Given the description of an element on the screen output the (x, y) to click on. 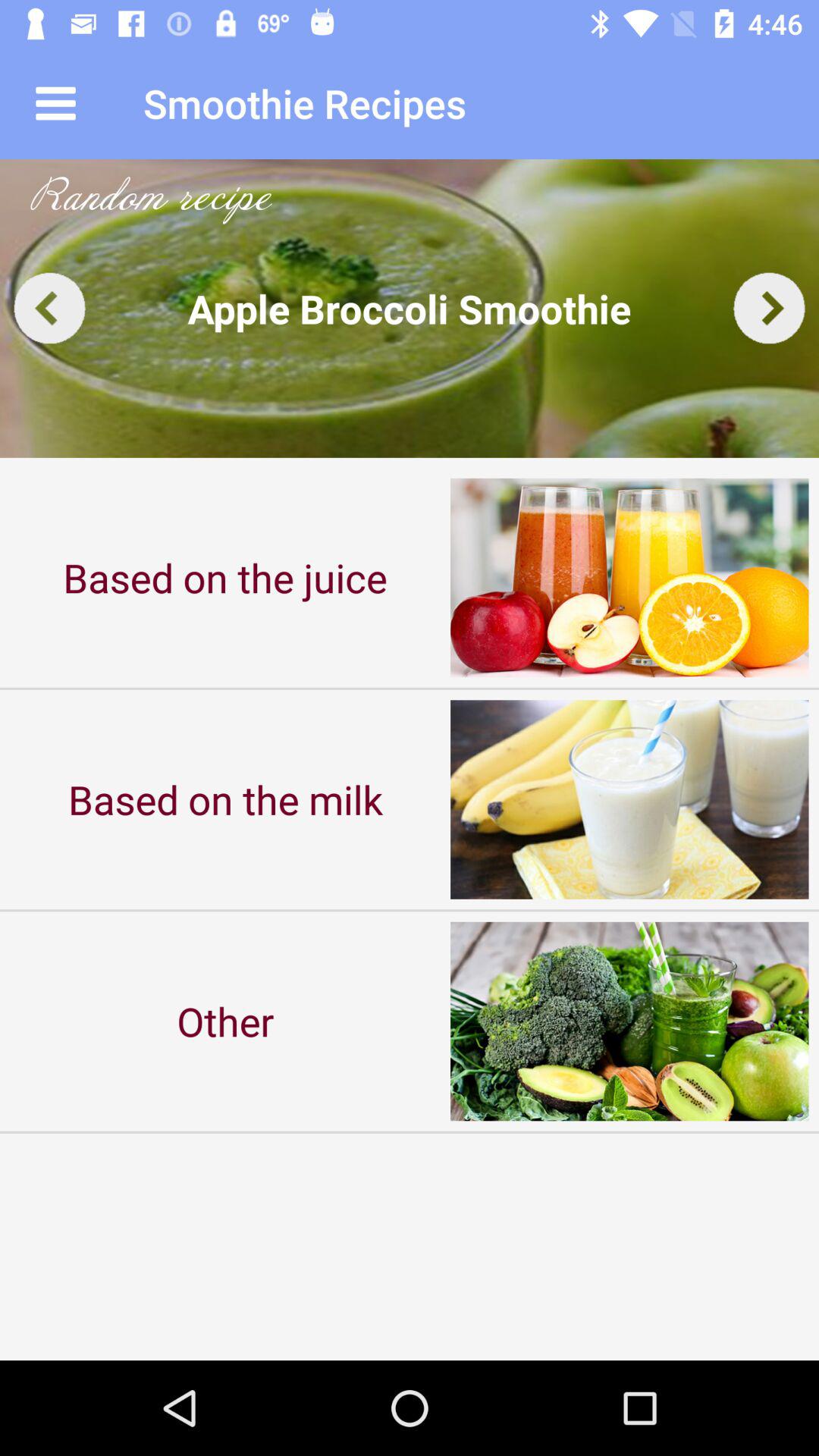
turn off the icon below based on the item (225, 1020)
